Given the description of an element on the screen output the (x, y) to click on. 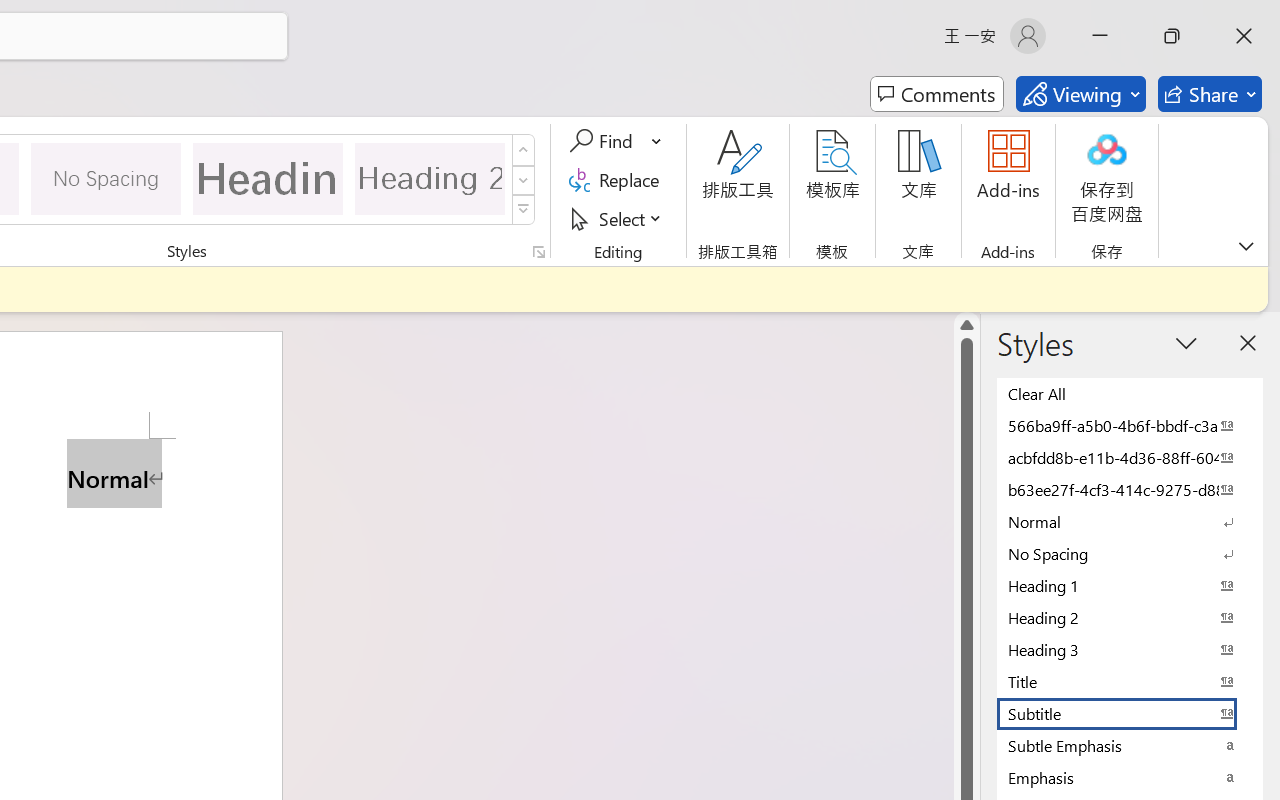
Title (1130, 681)
566ba9ff-a5b0-4b6f-bbdf-c3ab41993fc2 (1130, 425)
Heading 1 (267, 178)
Line up (966, 324)
Normal (1130, 521)
Task Pane Options (1186, 343)
Row up (523, 150)
b63ee27f-4cf3-414c-9275-d88e3f90795e (1130, 489)
Emphasis (1130, 777)
Styles (523, 209)
Mode (1080, 94)
acbfdd8b-e11b-4d36-88ff-6049b138f862 (1130, 457)
